Given the description of an element on the screen output the (x, y) to click on. 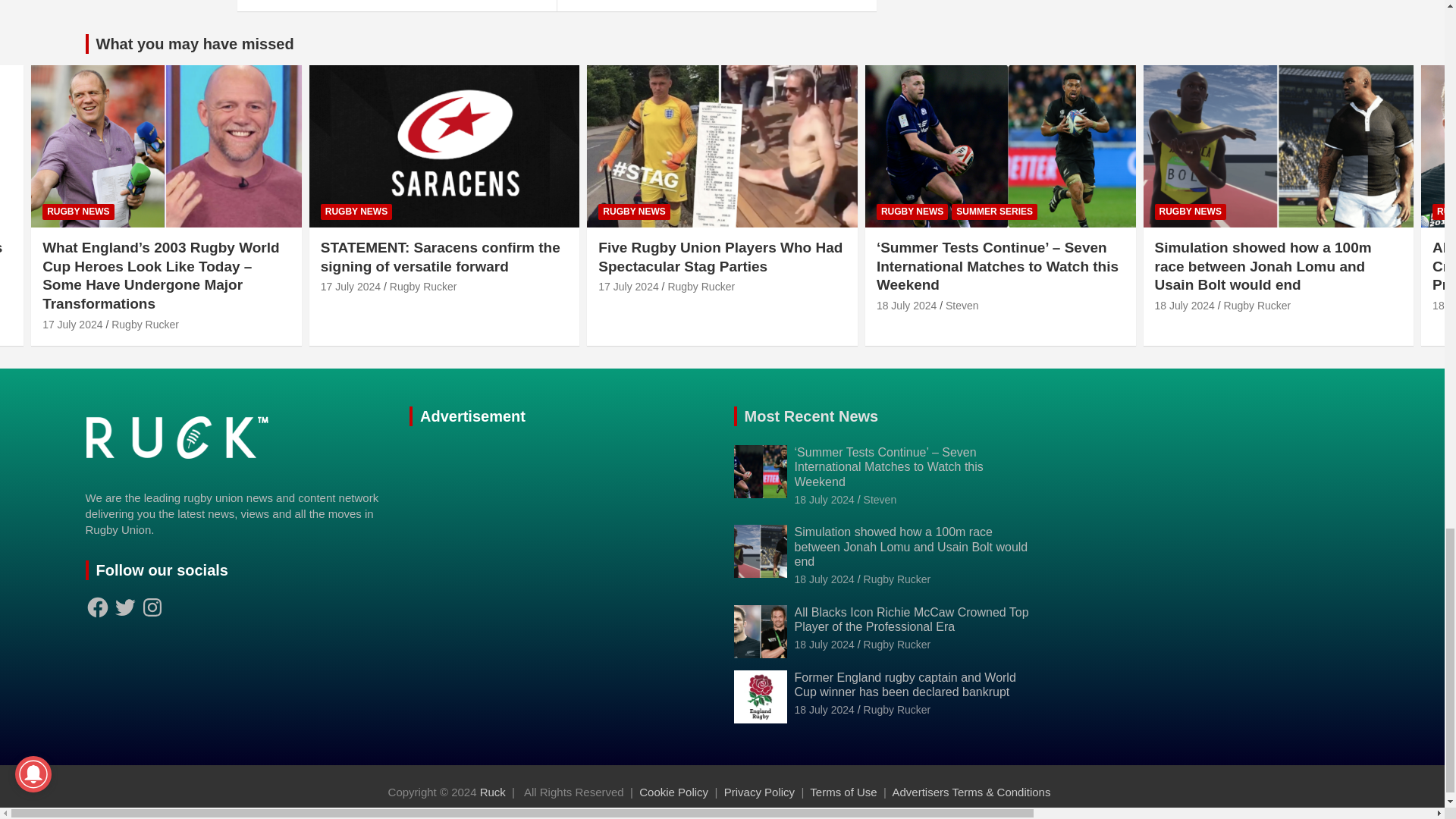
STATEMENT: Saracens confirm the signing of versatile forward (350, 286)
